Given the description of an element on the screen output the (x, y) to click on. 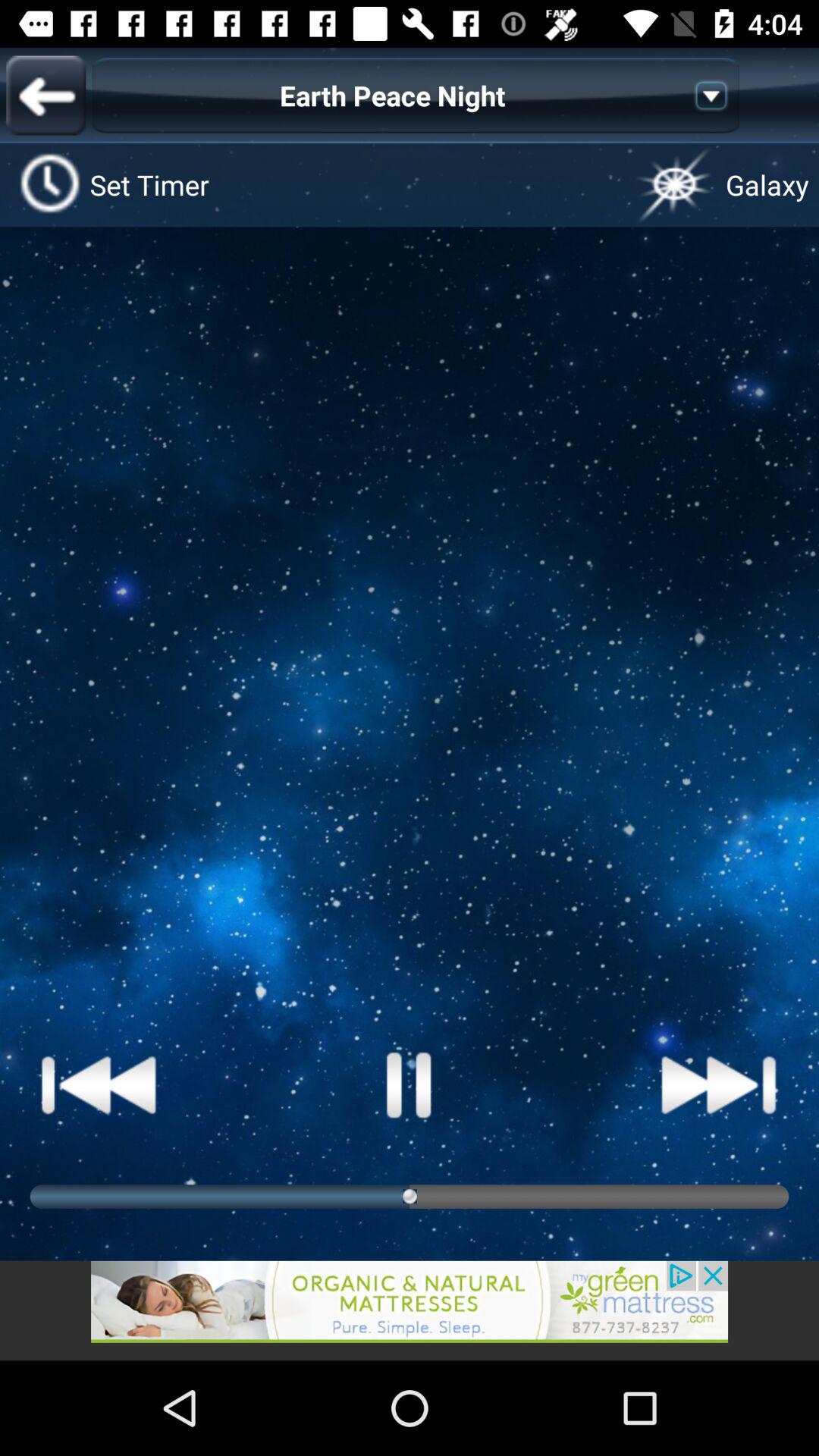
advertiser banner (409, 1310)
